Given the description of an element on the screen output the (x, y) to click on. 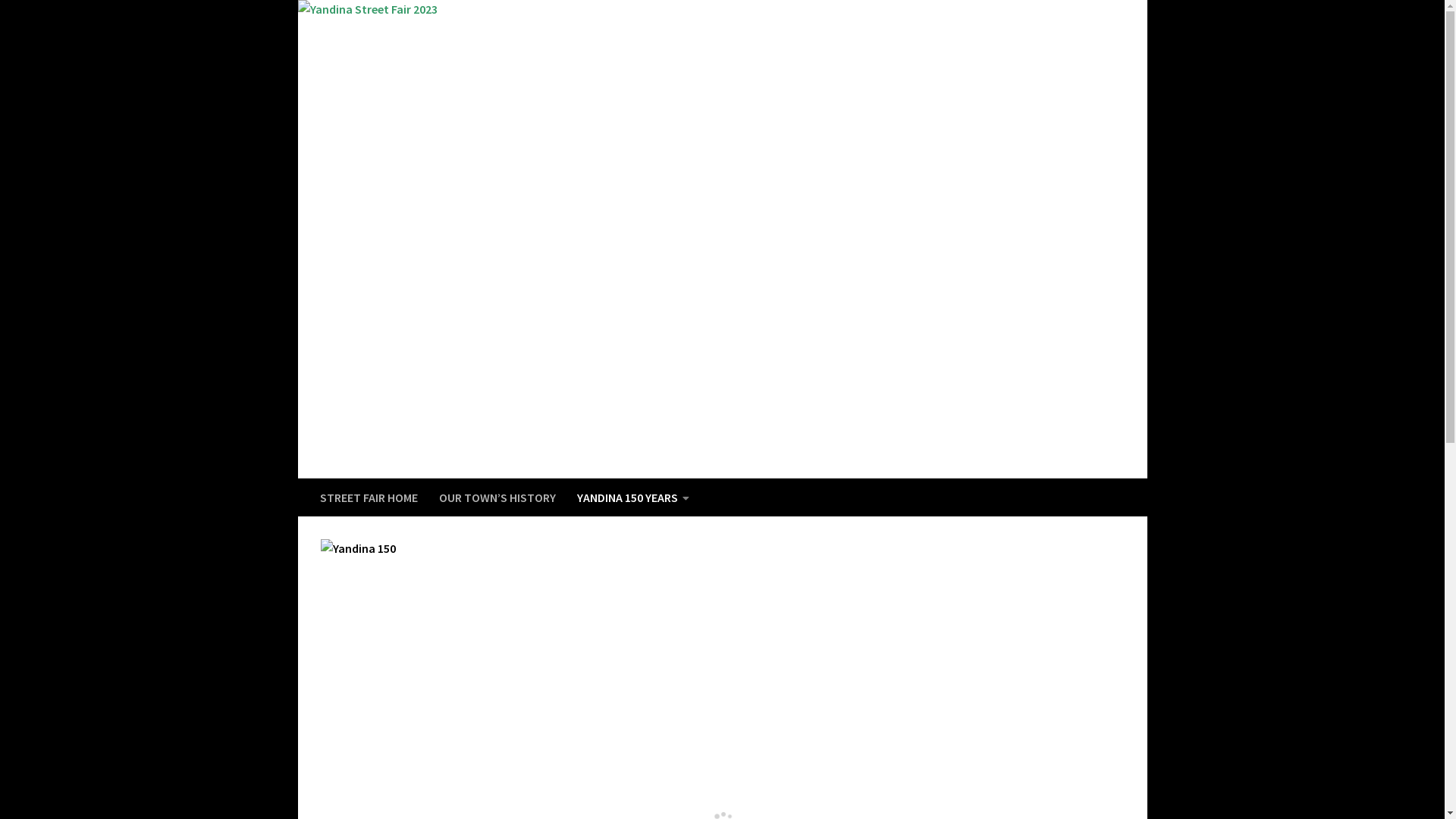
STREET FAIR HOME Element type: text (368, 497)
YANDINA 150 YEARS Element type: text (632, 497)
Skip to content Element type: text (359, 21)
